Given the description of an element on the screen output the (x, y) to click on. 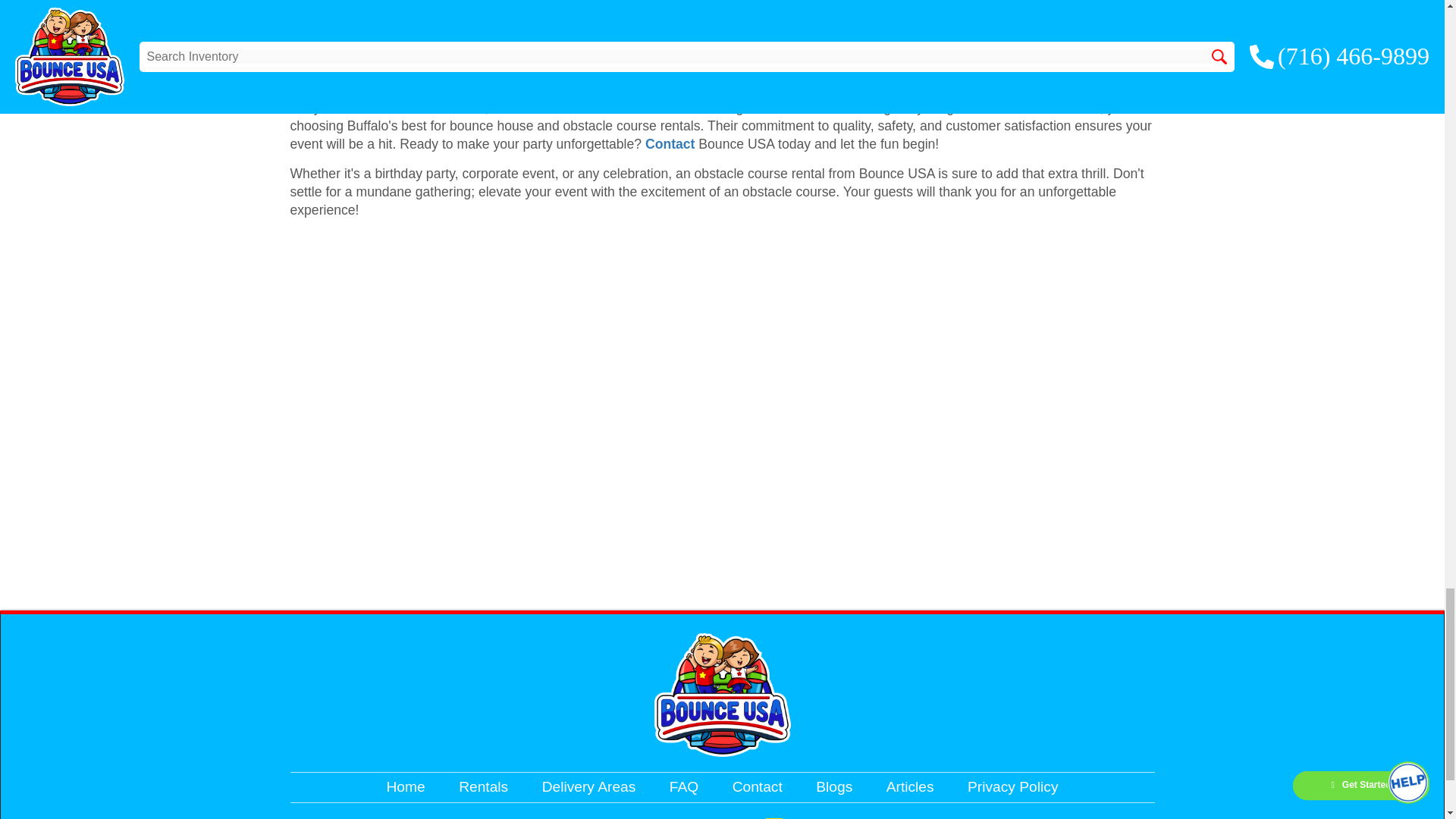
Blogs (833, 786)
Rentals (483, 786)
Privacy Policy (1013, 786)
Contact (757, 786)
Articles (910, 786)
Home (406, 786)
Contact (670, 143)
FAQ (683, 786)
Delivery Areas (588, 786)
